Given the description of an element on the screen output the (x, y) to click on. 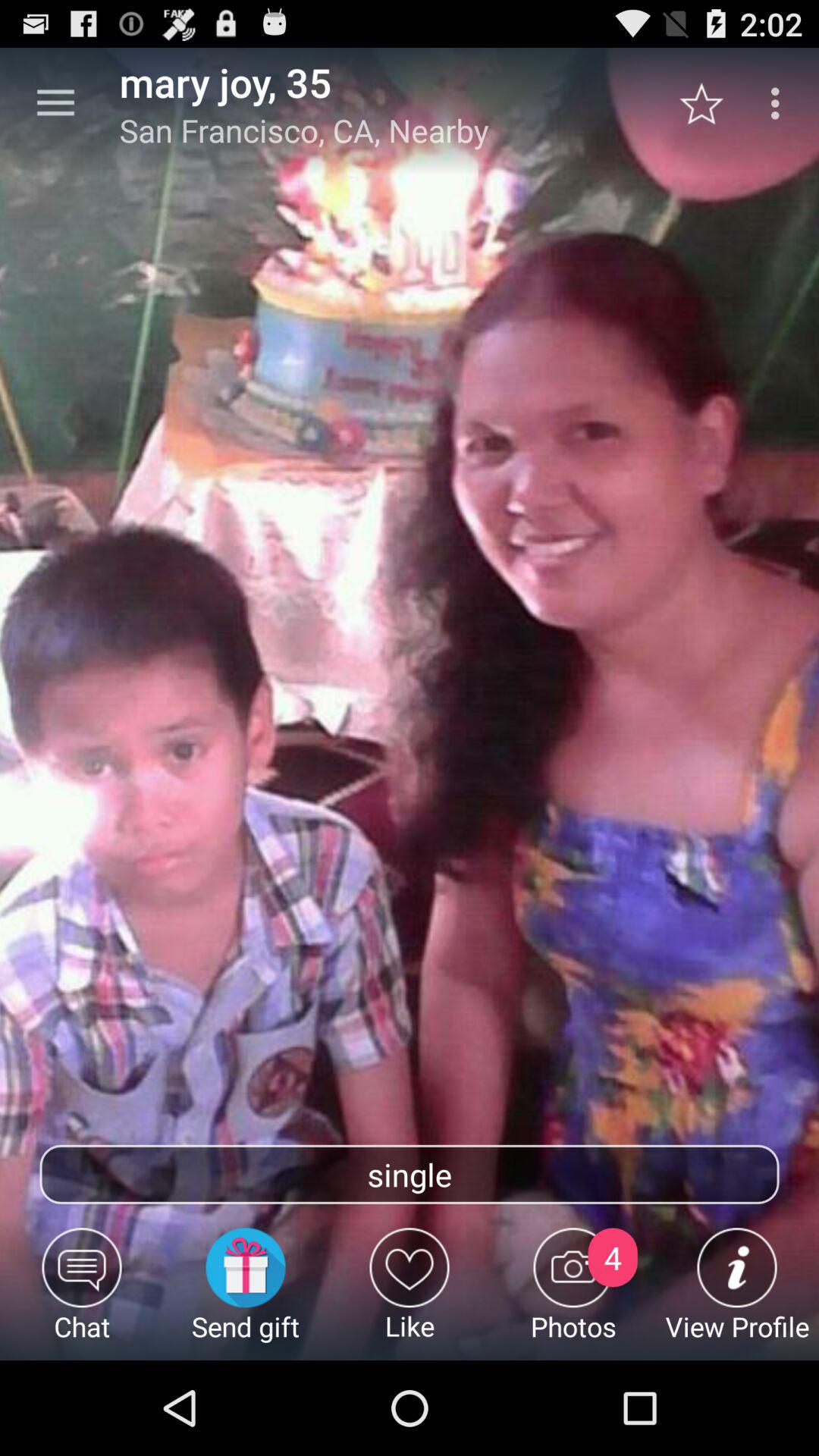
press item above single (55, 103)
